Given the description of an element on the screen output the (x, y) to click on. 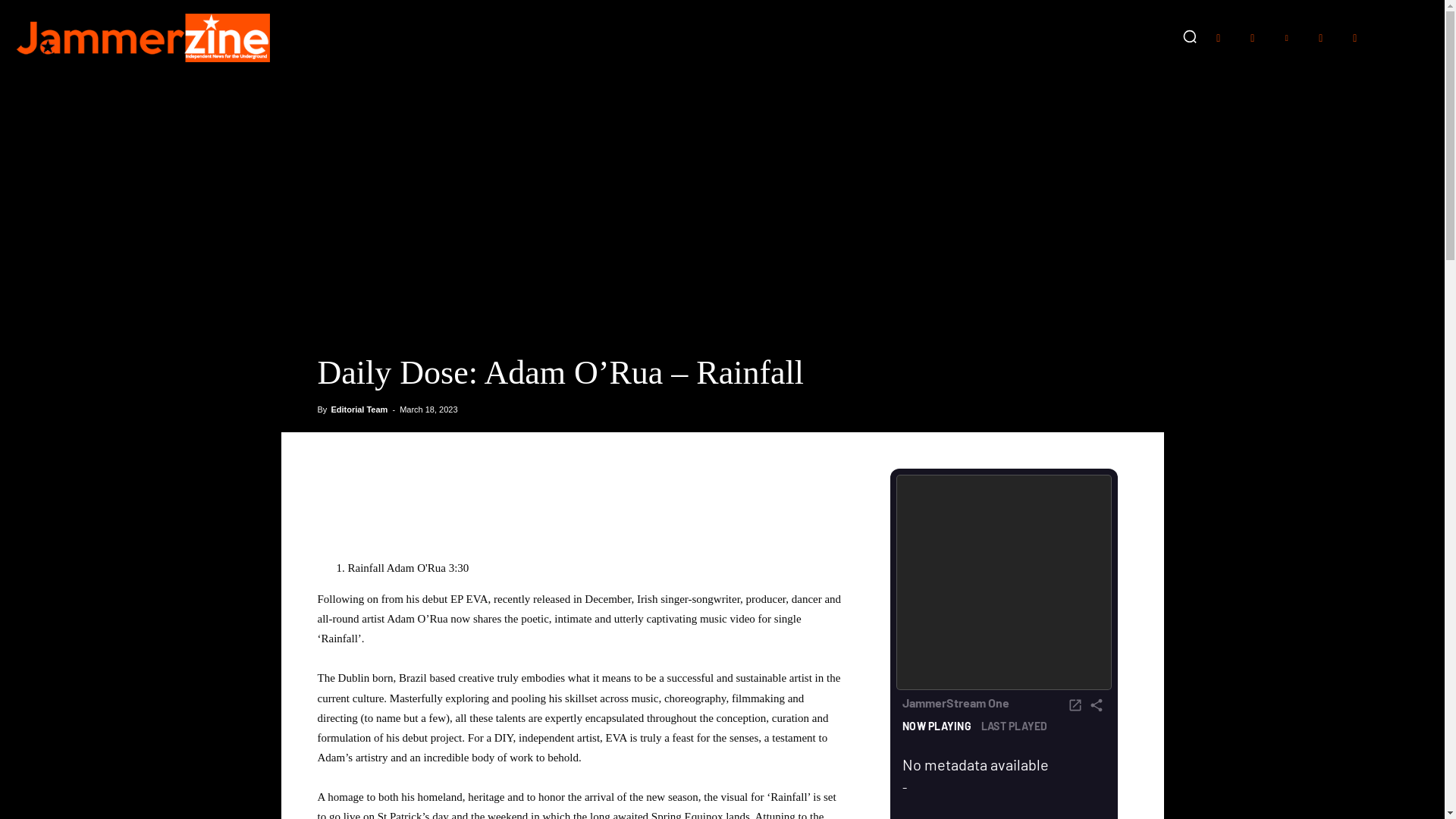
Jammerzine (141, 37)
